Given the description of an element on the screen output the (x, y) to click on. 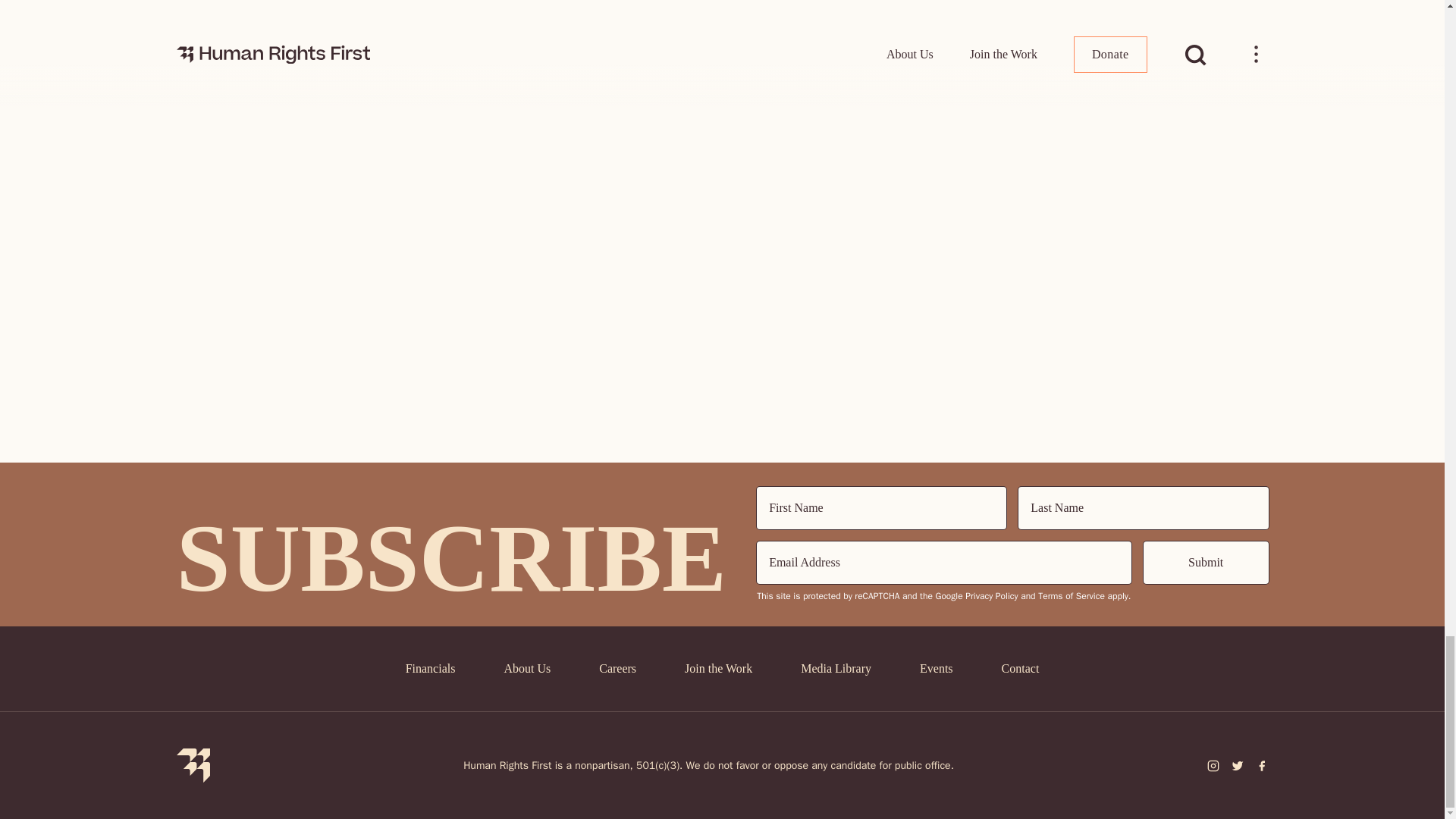
Submit (1205, 562)
